Given the description of an element on the screen output the (x, y) to click on. 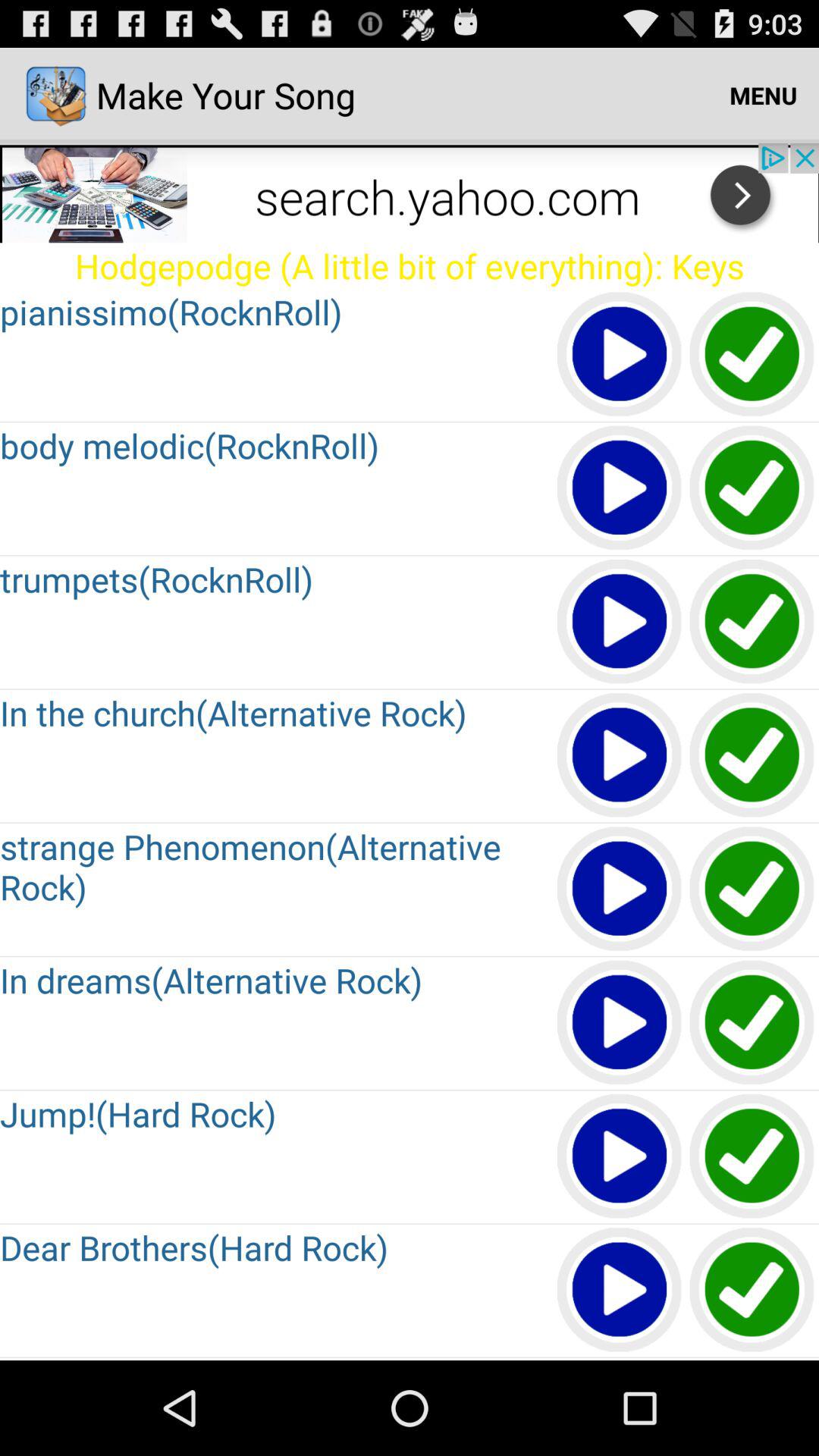
play page (619, 1290)
